Given the description of an element on the screen output the (x, y) to click on. 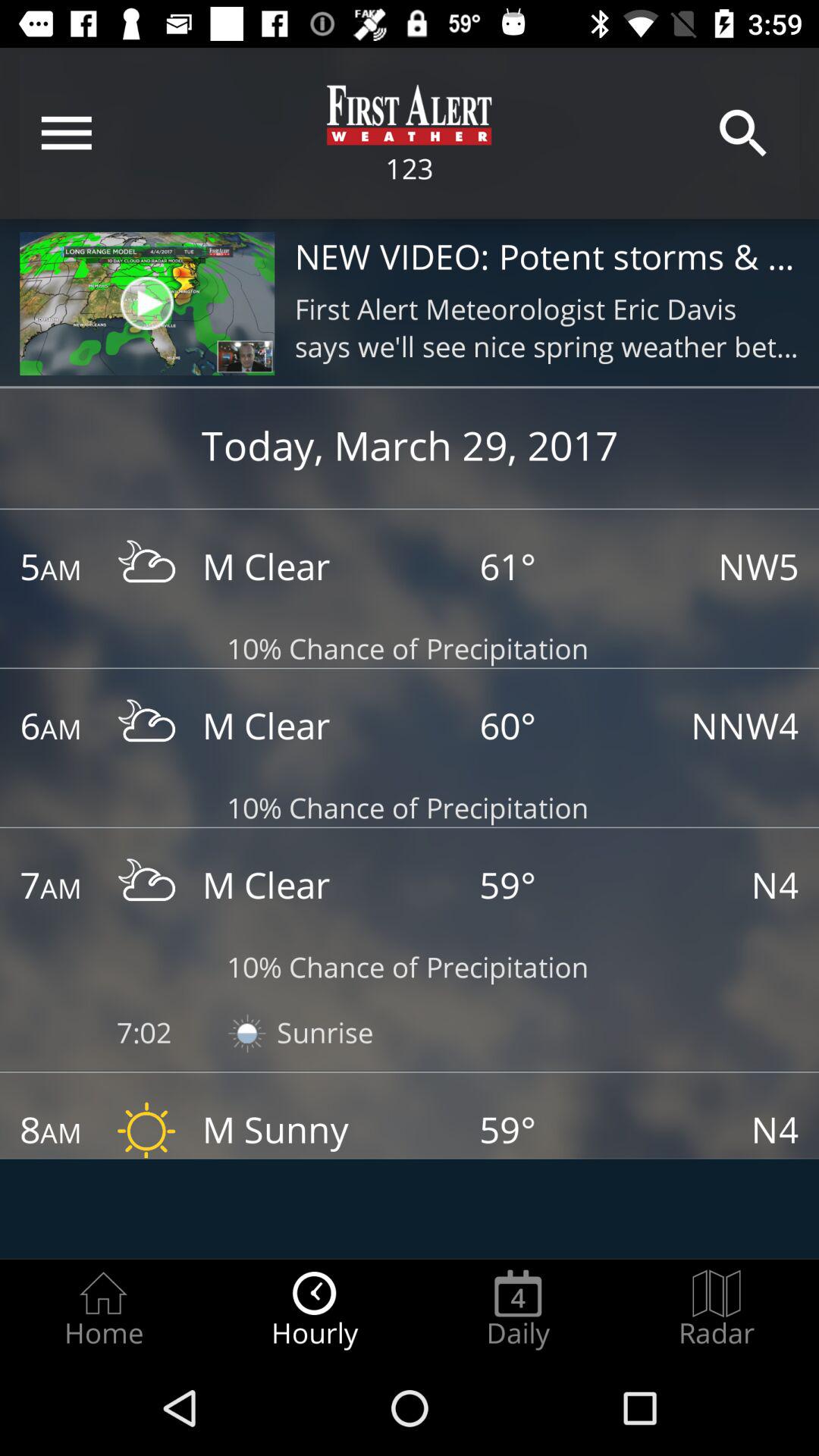
press item to the right of the hourly icon (518, 1309)
